Given the description of an element on the screen output the (x, y) to click on. 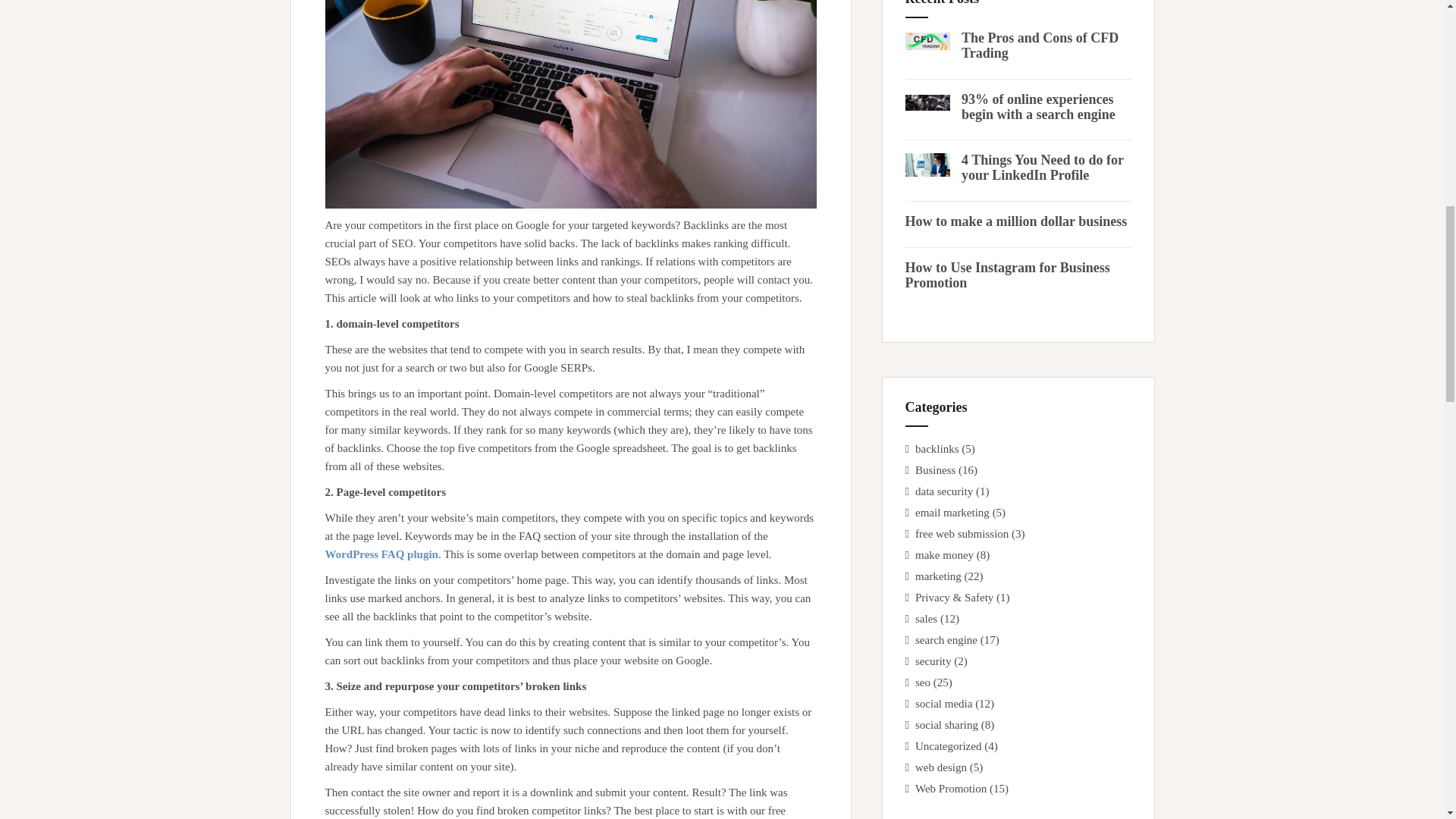
make money (944, 554)
free web submission (962, 533)
sales (926, 618)
data security (943, 491)
search engine (945, 639)
email marketing (952, 512)
Business (935, 469)
backlinks (937, 449)
WordPress FAQ plugin (381, 553)
marketing (937, 576)
